Given the description of an element on the screen output the (x, y) to click on. 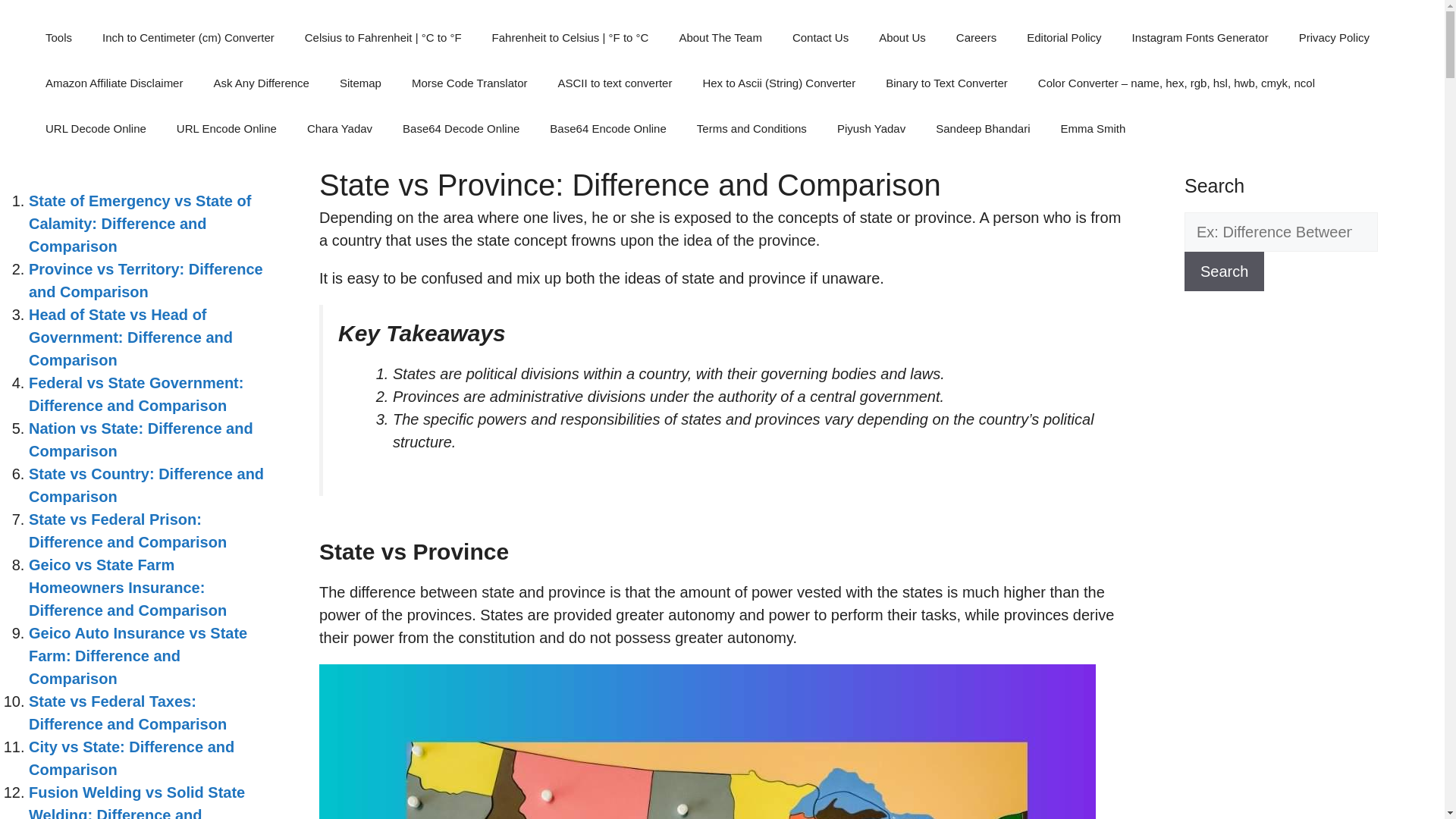
Base64 Encode Online (607, 128)
Emma Smith (1092, 128)
About Us (901, 37)
ASCII to text converter (615, 83)
Chara Yadav (339, 128)
Amazon Affiliate Disclaimer (114, 83)
Base64 Decode Online (460, 128)
Ask Any Difference (260, 83)
Instagram Fonts Generator (1200, 37)
Tools (58, 37)
Privacy Policy (1334, 37)
URL Encode Online (226, 128)
Piyush Yadav (871, 128)
Binary to Text Converter (946, 83)
Morse Code Translator (469, 83)
